Given the description of an element on the screen output the (x, y) to click on. 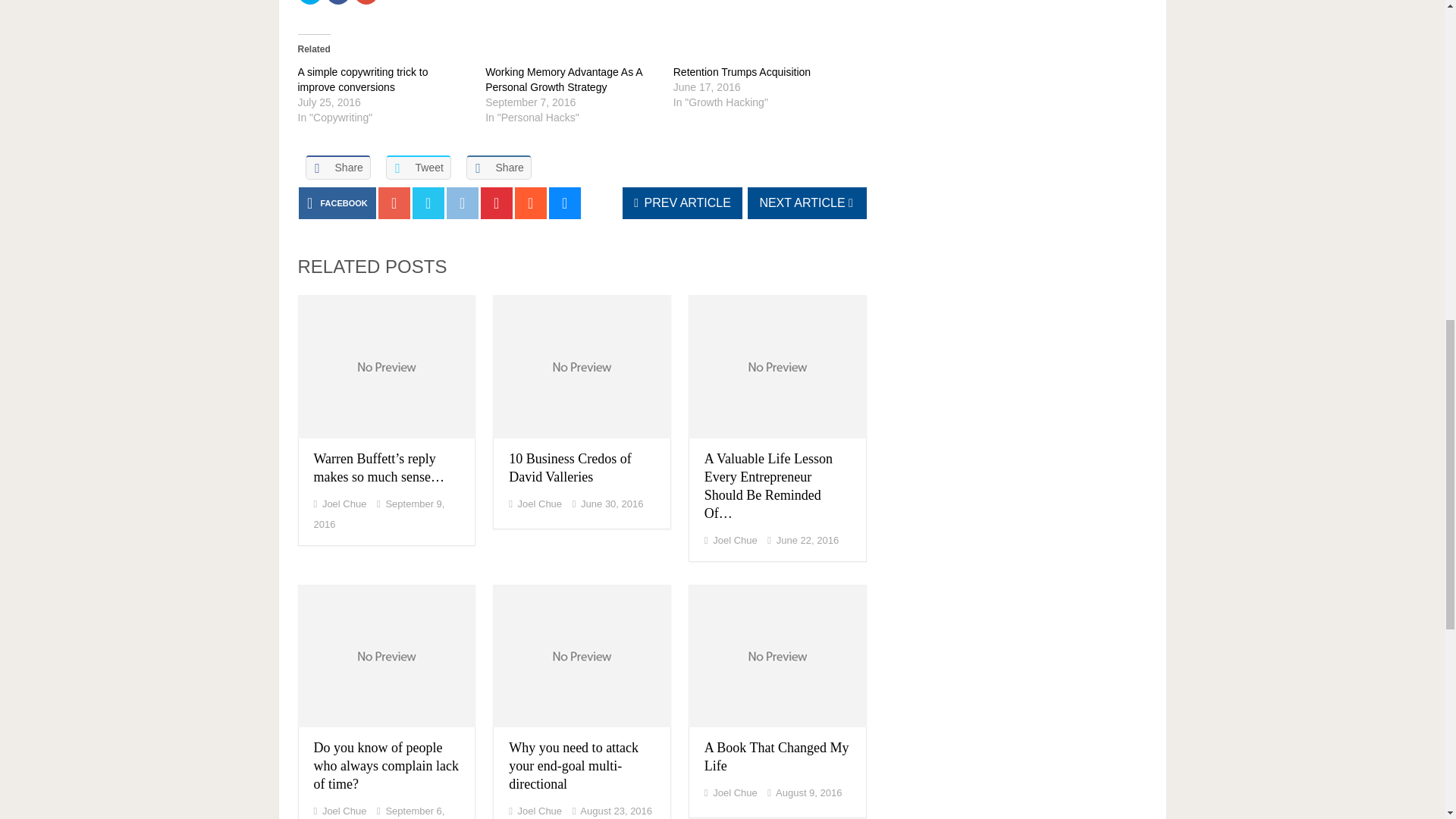
Share on Twitter (417, 167)
Posts by Joel Chue (343, 503)
A simple copywriting trick to improve conversions (362, 79)
Share on Facebook (336, 167)
Share on LinkedIn (498, 167)
Click to share on Facebook (338, 2)
Click to share on Twitter (309, 2)
